Given the description of an element on the screen output the (x, y) to click on. 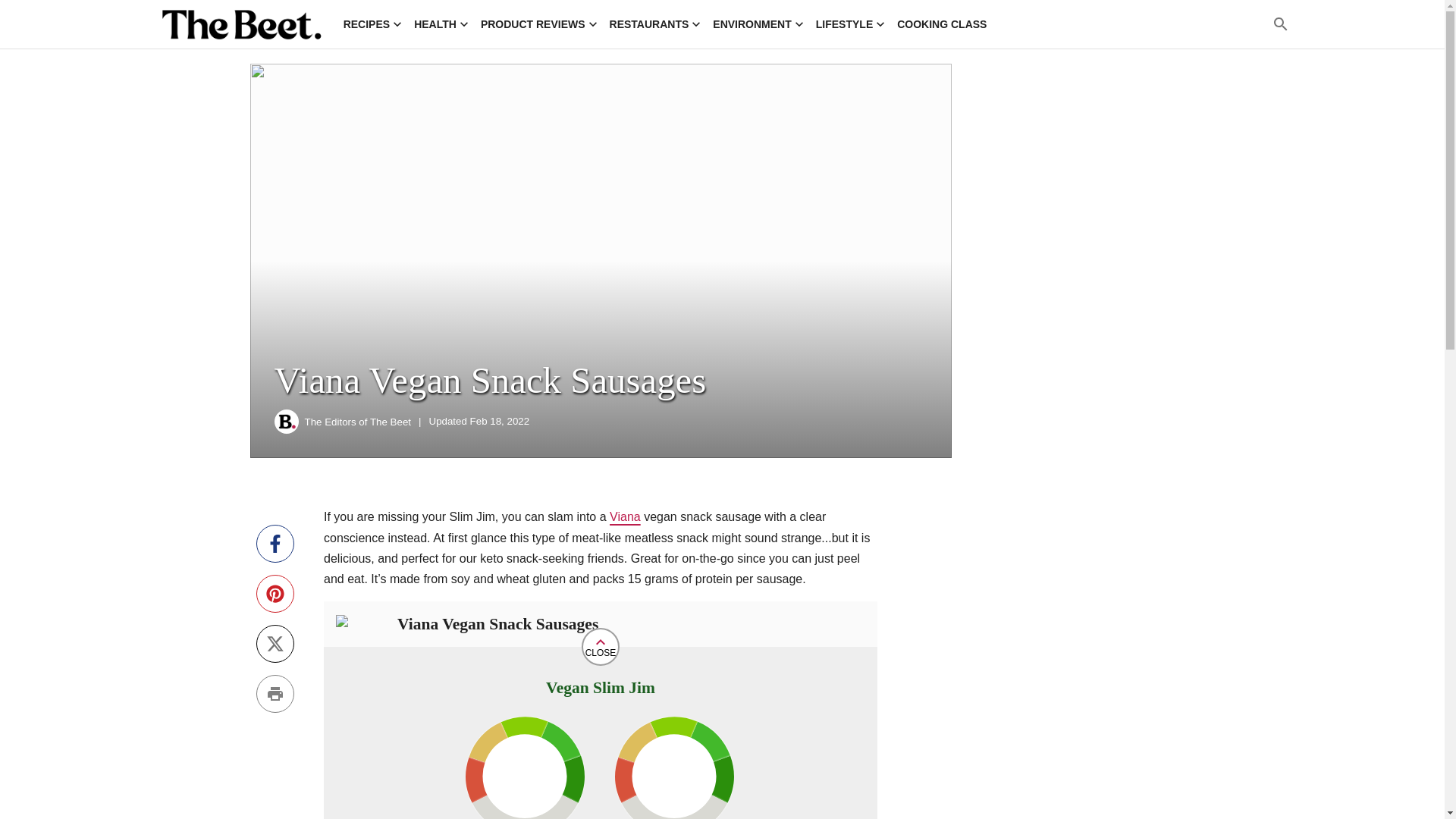
RESTAURANTS (655, 24)
RECIPES (372, 24)
LIFESTYLE (850, 24)
The Editors of The Beet (358, 421)
The Editors of The Beet (286, 421)
HEALTH (440, 24)
CLOSE (600, 646)
Viana (625, 516)
ENVIRONMENT (757, 24)
PRODUCT REVIEWS (539, 24)
